Given the description of an element on the screen output the (x, y) to click on. 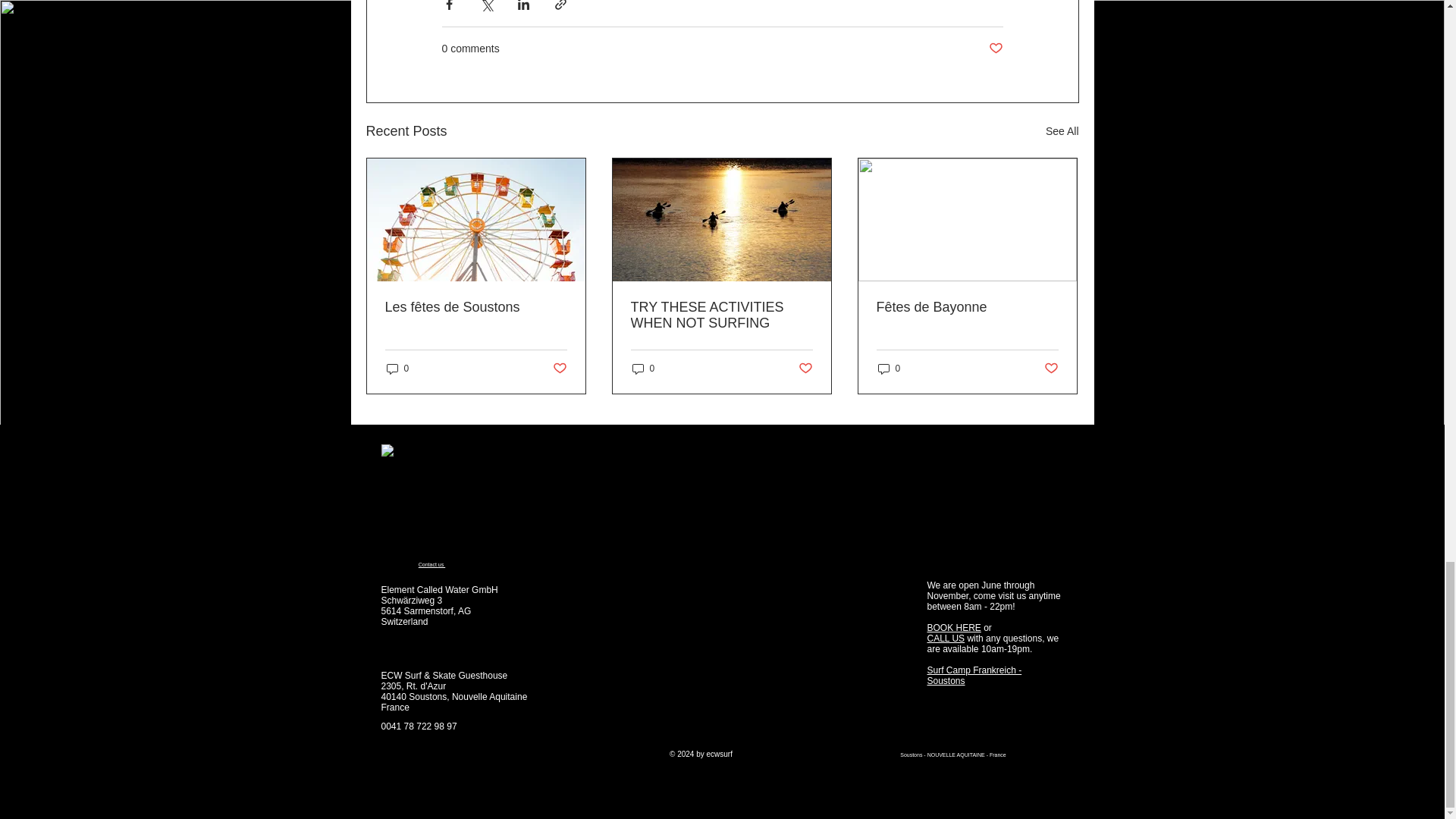
See All (1061, 131)
Post not marked as liked (995, 48)
0 (397, 368)
